Given the description of an element on the screen output the (x, y) to click on. 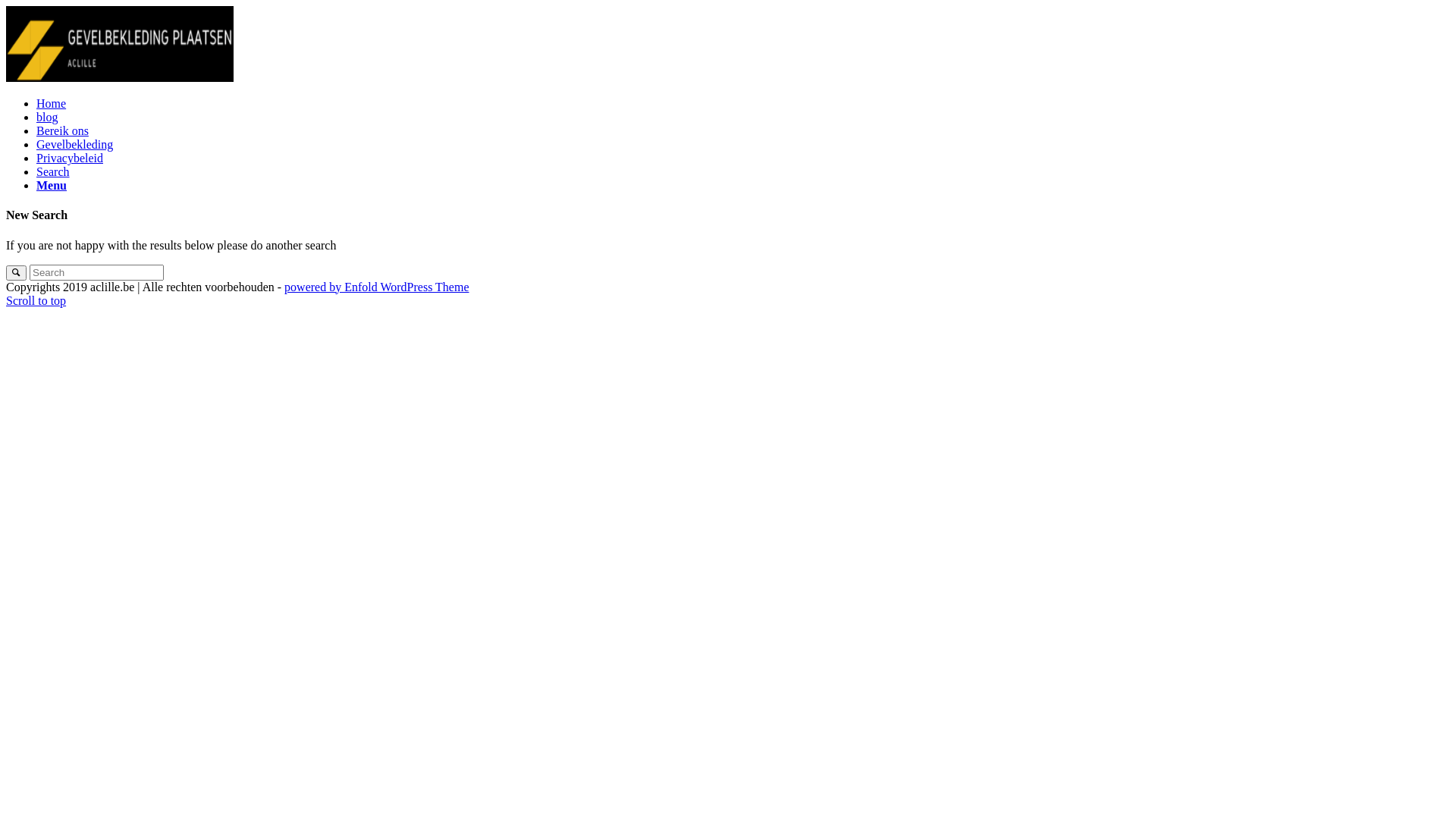
Scroll to top Element type: text (35, 300)
Bereik ons Element type: text (62, 130)
Gevelbekleding Element type: text (74, 144)
blog Element type: text (46, 116)
Search Element type: text (52, 171)
Privacybeleid Element type: text (69, 157)
Home Element type: text (50, 103)
powered by Enfold WordPress Theme Element type: text (376, 286)
Menu Element type: text (51, 184)
